Given the description of an element on the screen output the (x, y) to click on. 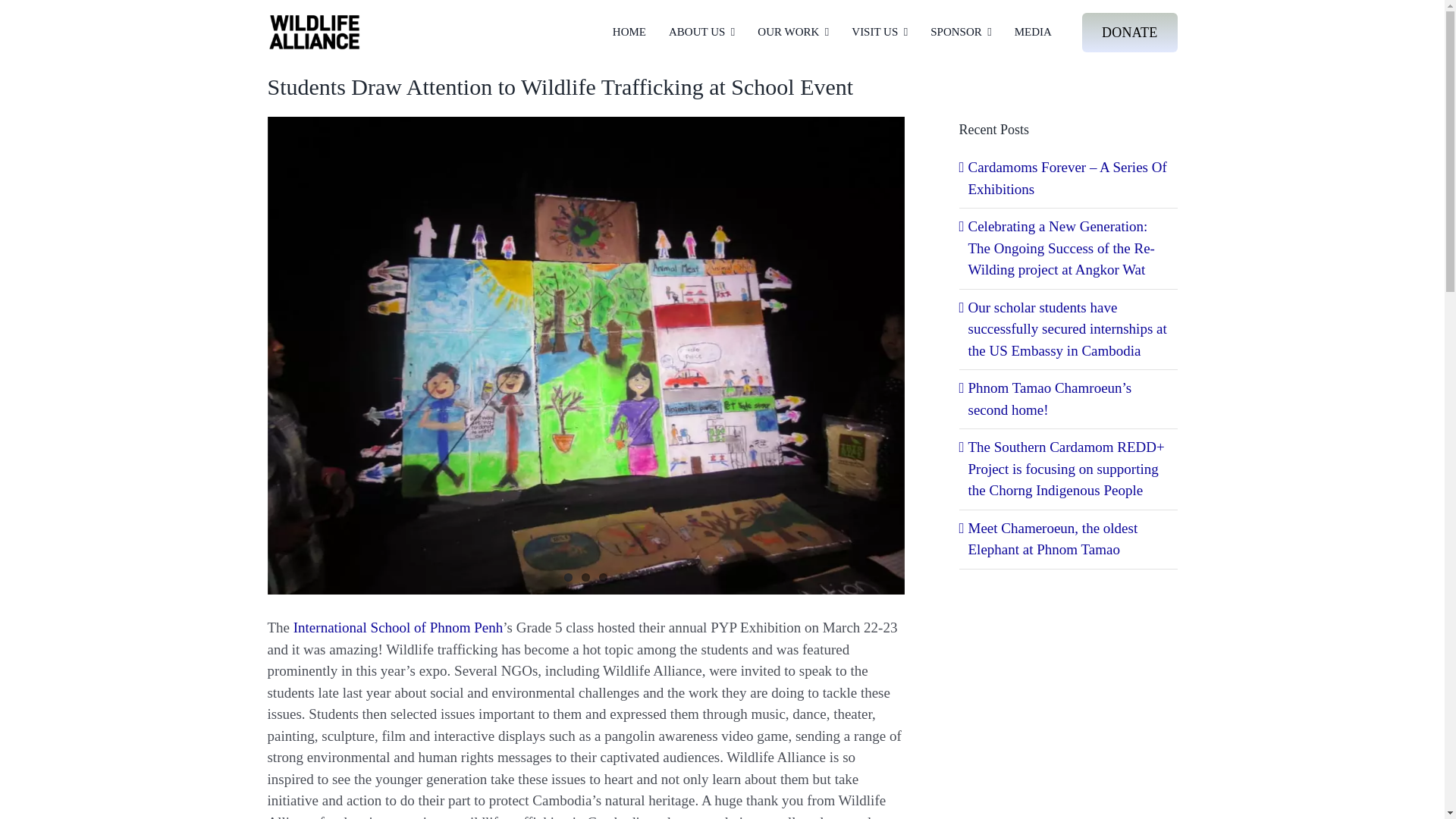
SPONSOR (960, 31)
MEDIA (1032, 31)
OUR WORK (792, 31)
DONATE (1129, 32)
VISIT US (879, 31)
HOME (629, 31)
ABOUT US (701, 31)
